Given the description of an element on the screen output the (x, y) to click on. 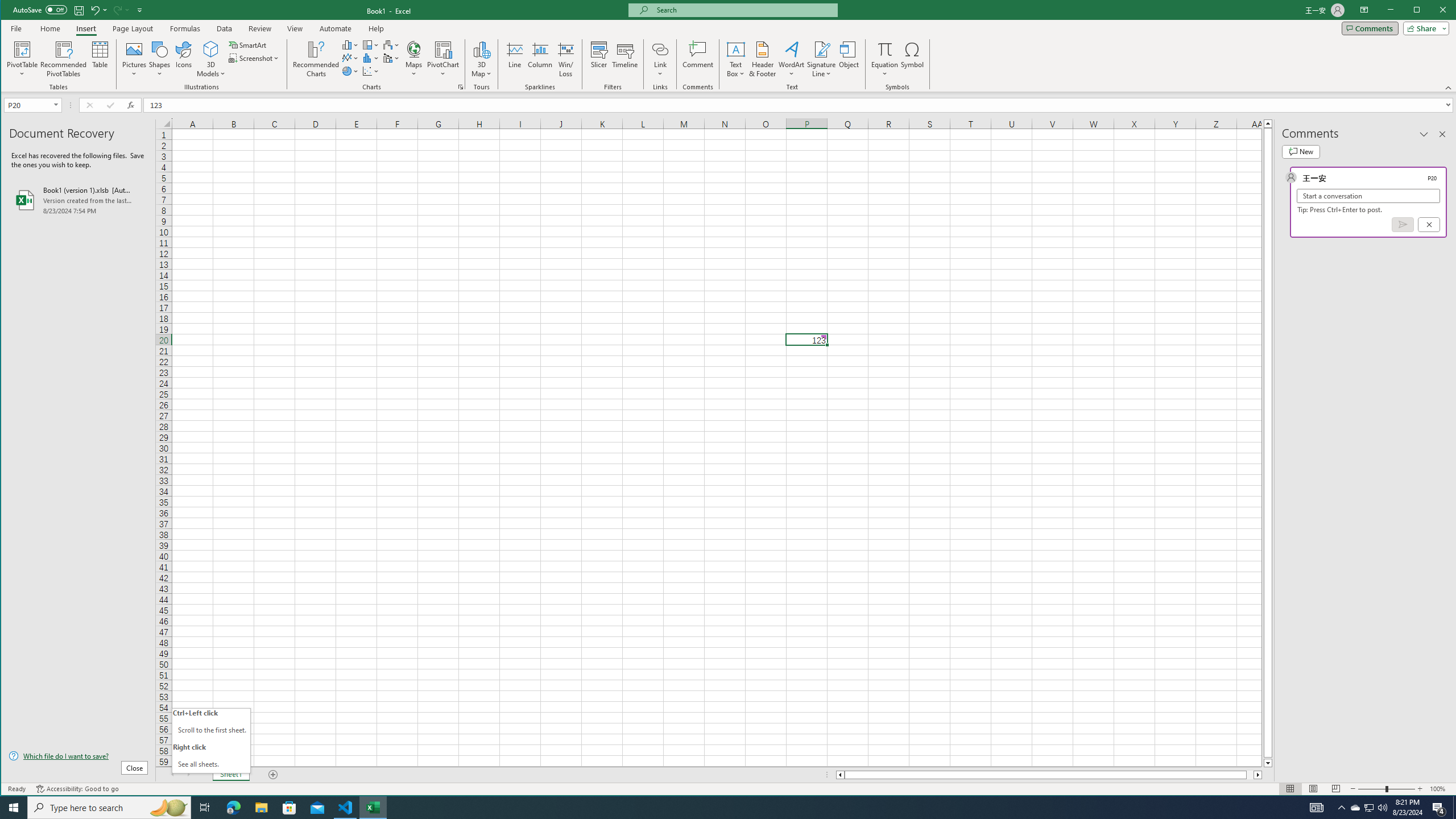
Header & Footer... (762, 59)
Class: NetUIScrollBar (1048, 774)
3D Models (211, 48)
Link (659, 59)
Review (259, 28)
Line up (1267, 122)
Comments (1369, 28)
Class: MsoCommandBar (1368, 807)
Maps (728, 45)
Automate (413, 59)
Insert Scatter (X, Y) or Bubble Chart (336, 28)
Insert Waterfall, Funnel, Stock, Surface, or Radar Chart (371, 70)
